Given the description of an element on the screen output the (x, y) to click on. 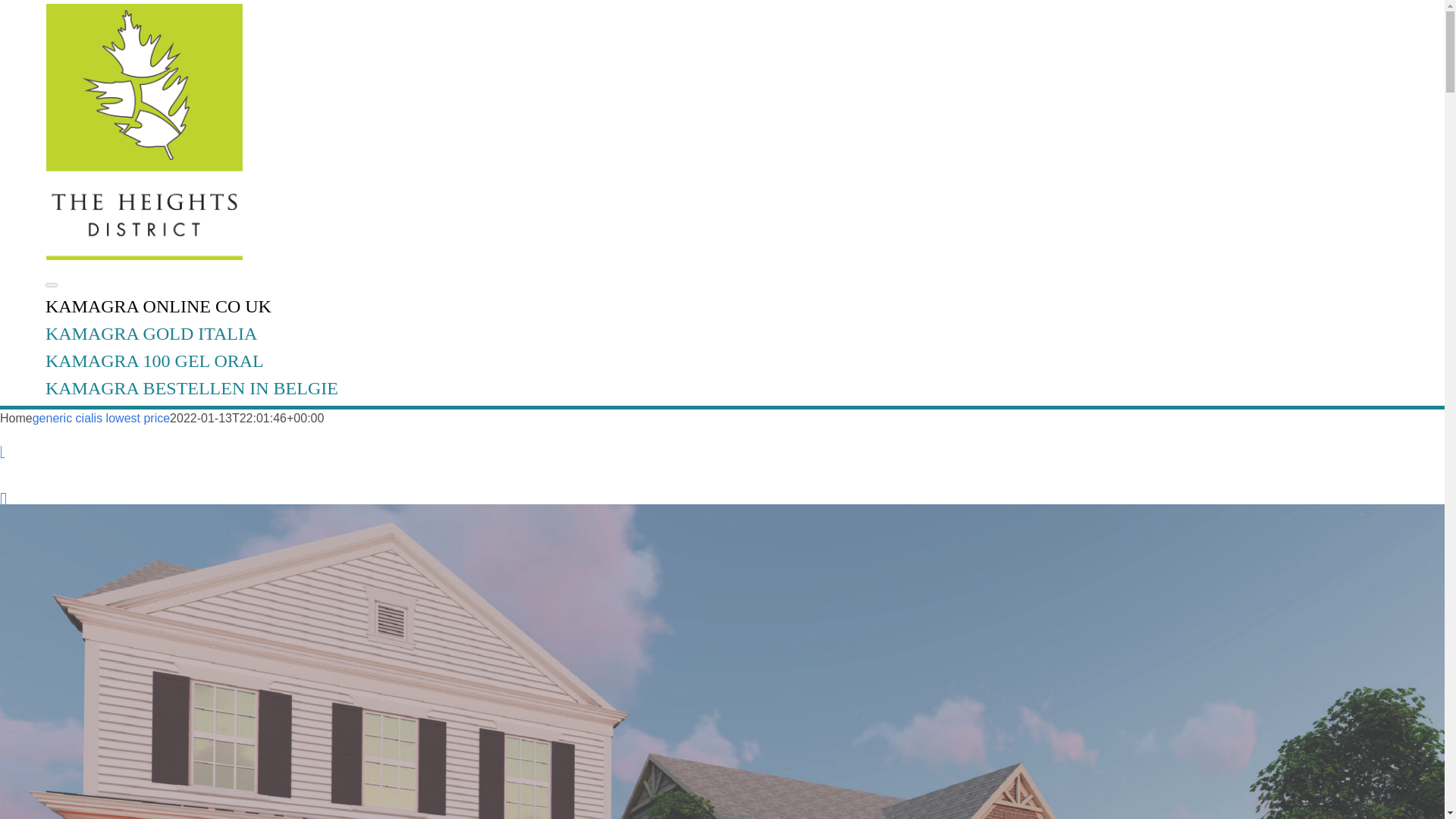
KAMAGRA BESTELLEN IN BELGIE (200, 388)
Toggle Navigation (51, 284)
KAMAGRA GOLD ITALIA (160, 333)
KAMAGRA 100 GEL ORAL (163, 361)
generic cialis lowest price (101, 418)
KAMAGRA ONLINE CO UK (167, 306)
